Given the description of an element on the screen output the (x, y) to click on. 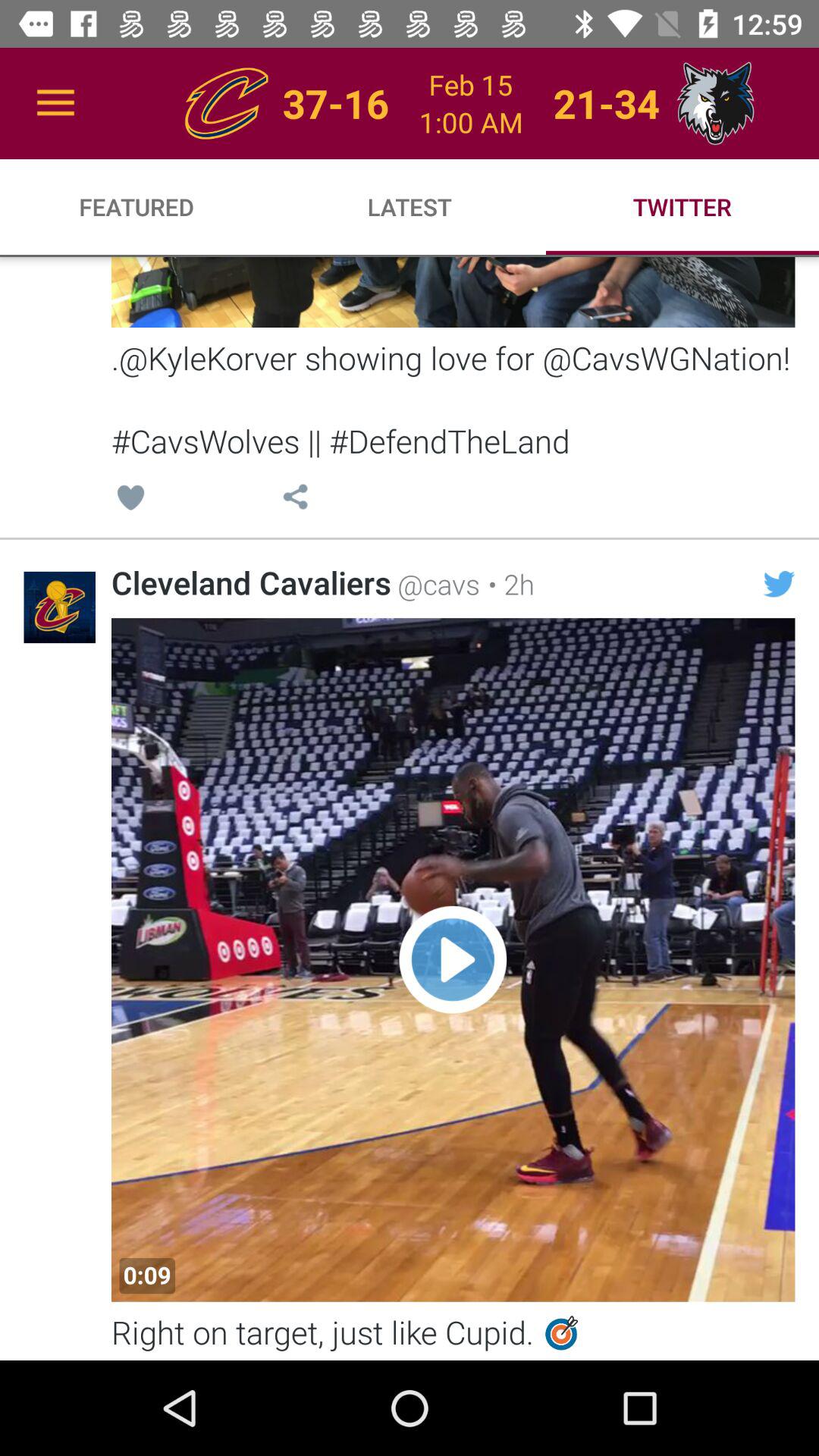
tap the icon to the left of the @cavs icon (251, 582)
